Given the description of an element on the screen output the (x, y) to click on. 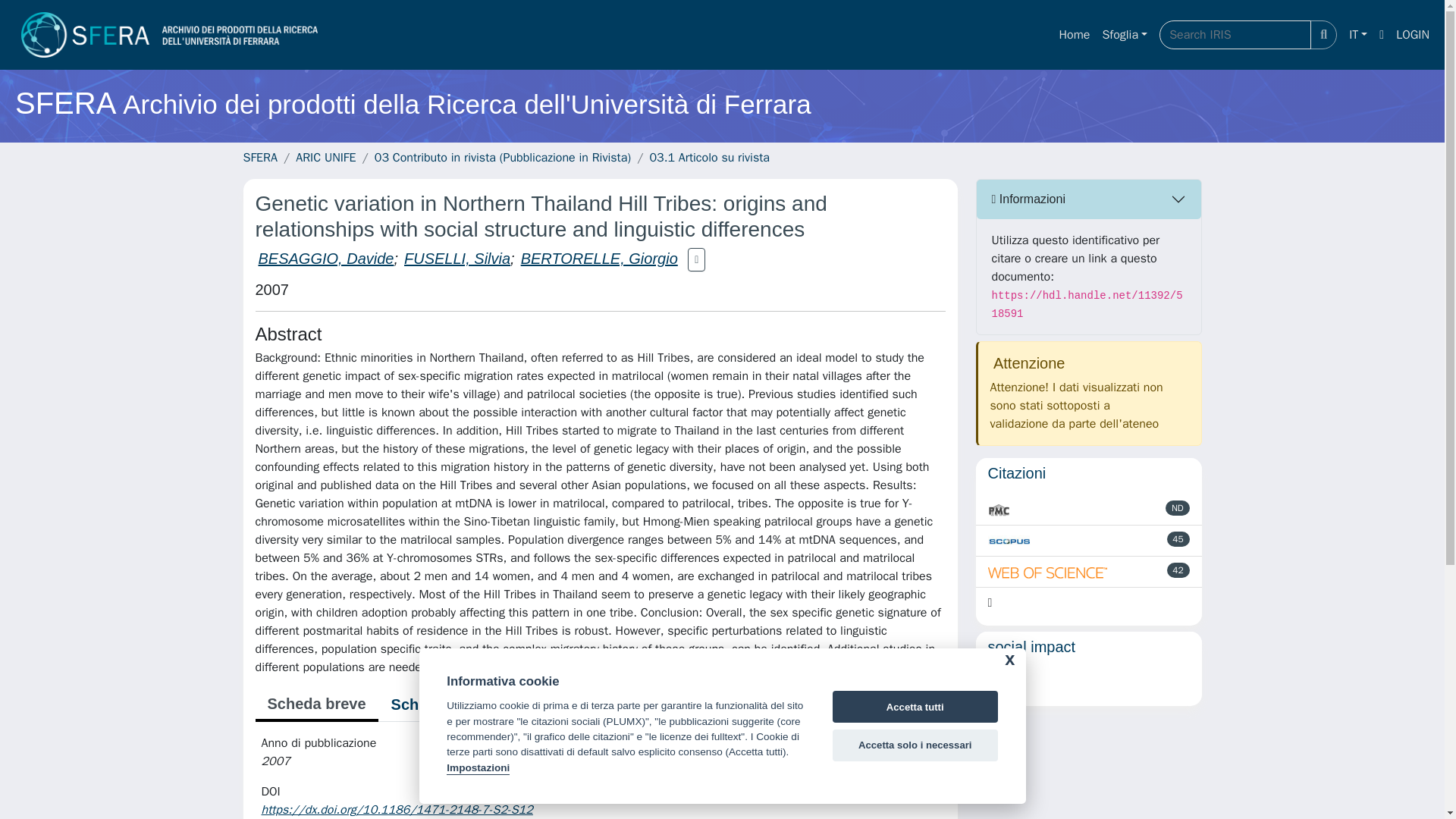
ARIC UNIFE (325, 157)
Scheda breve (315, 704)
FUSELLI, Silvia (457, 258)
Scheda completa (453, 704)
SFERA (259, 157)
Sfoglia (1124, 34)
aggiornato in data 06-08-2024 17:53 (1178, 539)
 Informazioni (1088, 199)
LOGIN (1412, 34)
BERTORELLE, Giorgio (599, 258)
